Given the description of an element on the screen output the (x, y) to click on. 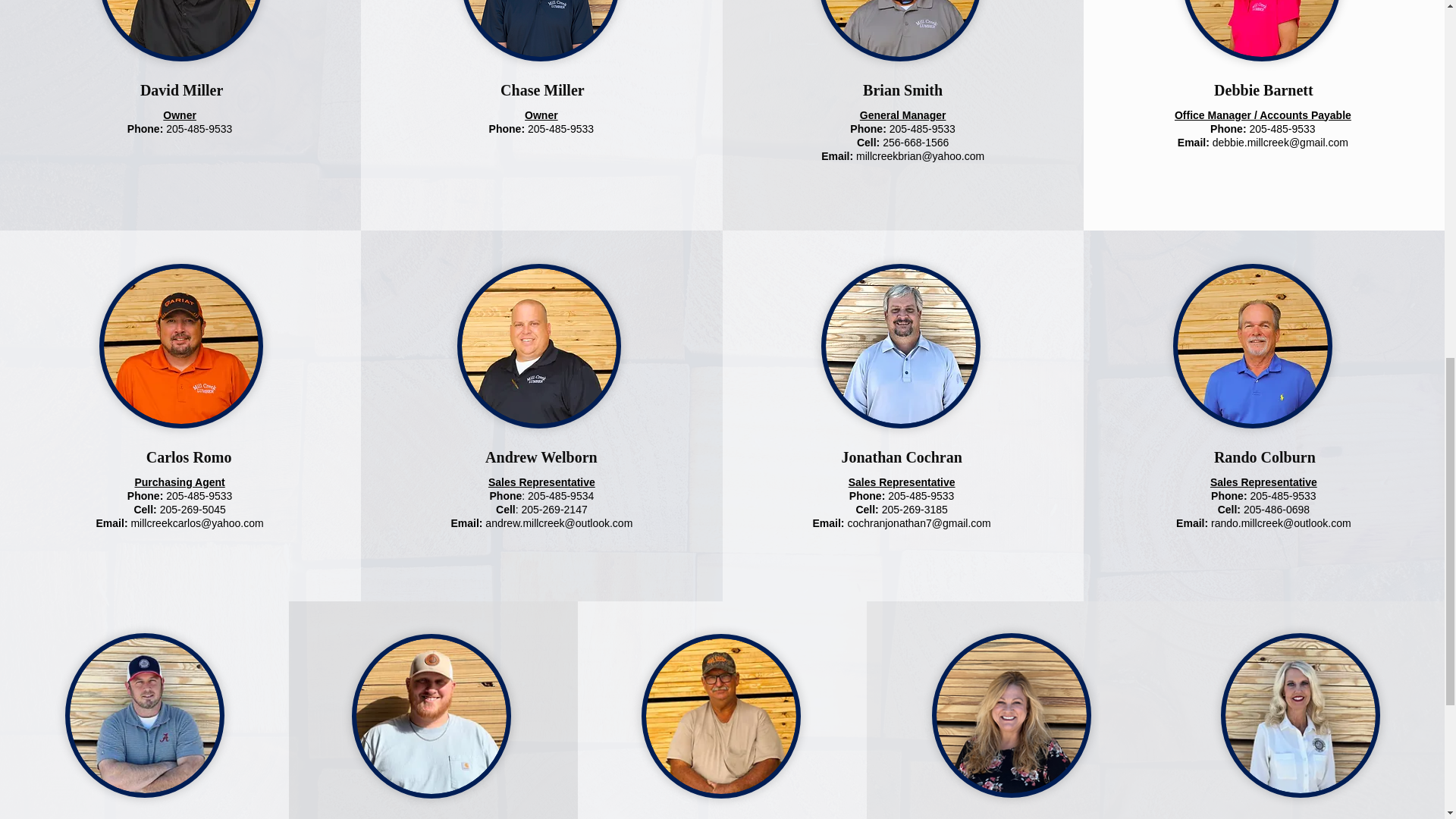
guy3.jpg (144, 714)
guy3.jpg (900, 345)
guy3.jpg (1010, 714)
Phone: 205-485-9533 (180, 128)
guy3.jpg (540, 30)
guy3.jpg (1261, 30)
guy2.jpg (181, 345)
guy3.jpg (431, 715)
guy4.jpg (899, 30)
guy3.jpg (721, 715)
guy4.jpg (539, 345)
guy3.jpg (1252, 345)
guy2.jpg (181, 30)
guy3.jpg (1300, 714)
Phone: 205-485-9533 (902, 128)
